Given the description of an element on the screen output the (x, y) to click on. 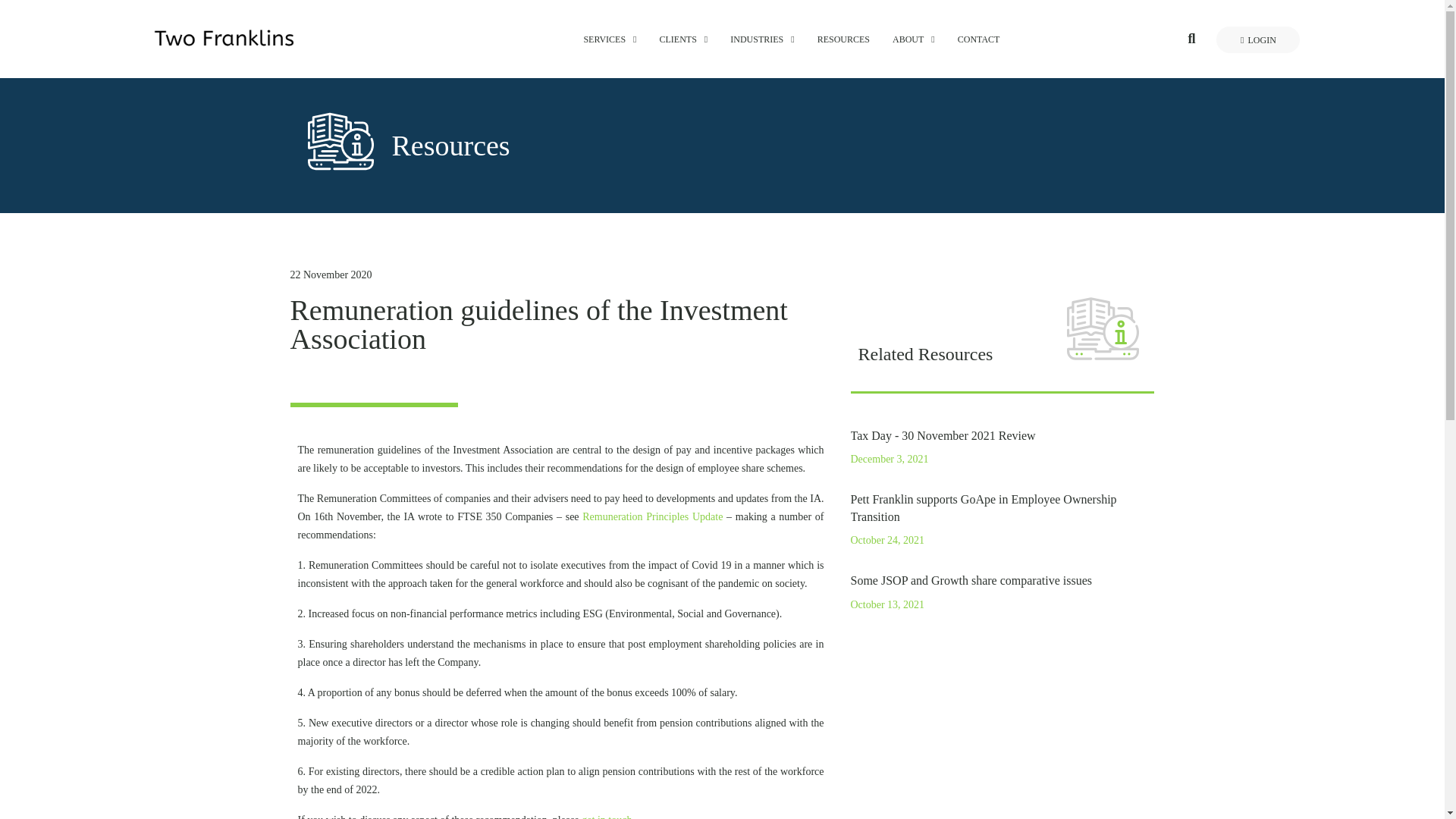
ABOUT (913, 39)
RESOURCES (843, 39)
SERVICES (609, 39)
Tax Day - 30 November 2021 Review (942, 435)
get in touch (605, 816)
INDUSTRIES (762, 39)
Remuneration Principles Update (652, 516)
CLIENTS (683, 39)
CONTACT (978, 39)
22 November 2020 (330, 275)
